Given the description of an element on the screen output the (x, y) to click on. 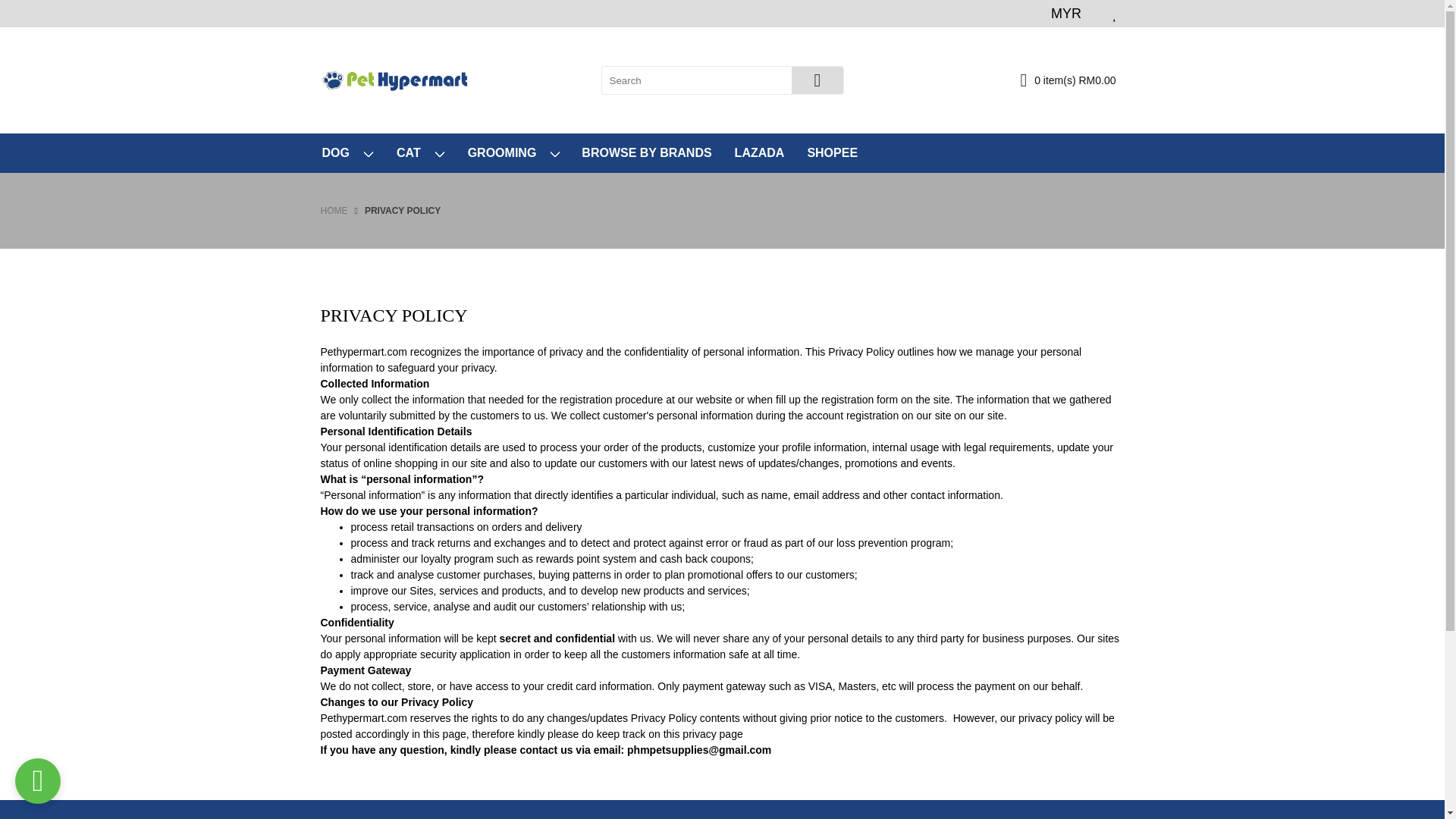
BROWSE BY BRANDS (646, 153)
GROOMING (512, 153)
MYR (1066, 13)
SHOPEE (831, 153)
LAZADA (759, 153)
CAT (419, 153)
DOG (345, 153)
Pethypermart.com (394, 79)
